Given the description of an element on the screen output the (x, y) to click on. 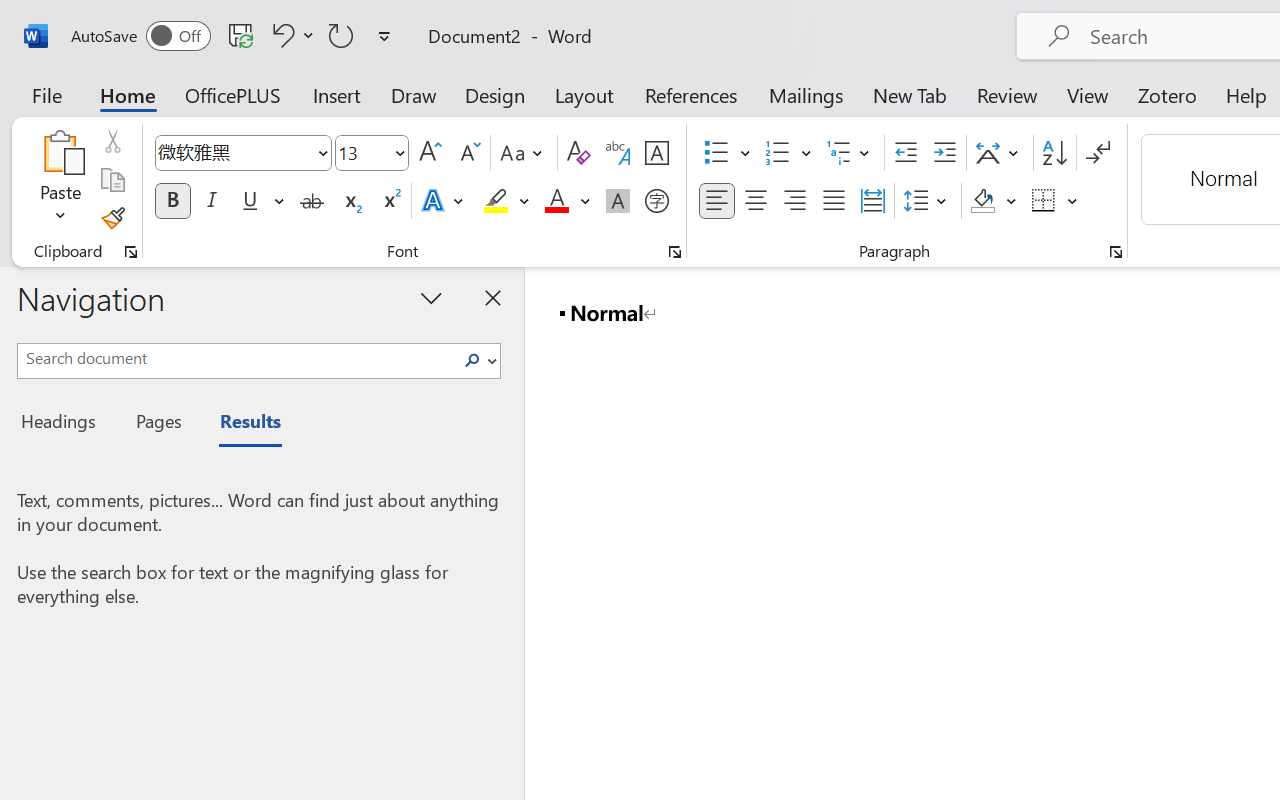
Review (1007, 94)
Borders (1044, 201)
Align Right (794, 201)
Paragraph... (1115, 252)
Open (399, 152)
New Tab (909, 94)
Bullets (727, 153)
Phonetic Guide... (618, 153)
Repeat Style (341, 35)
Sort... (1054, 153)
Save (241, 35)
Character Shading (618, 201)
Show/Hide Editing Marks (1098, 153)
Zotero (1166, 94)
